Given the description of an element on the screen output the (x, y) to click on. 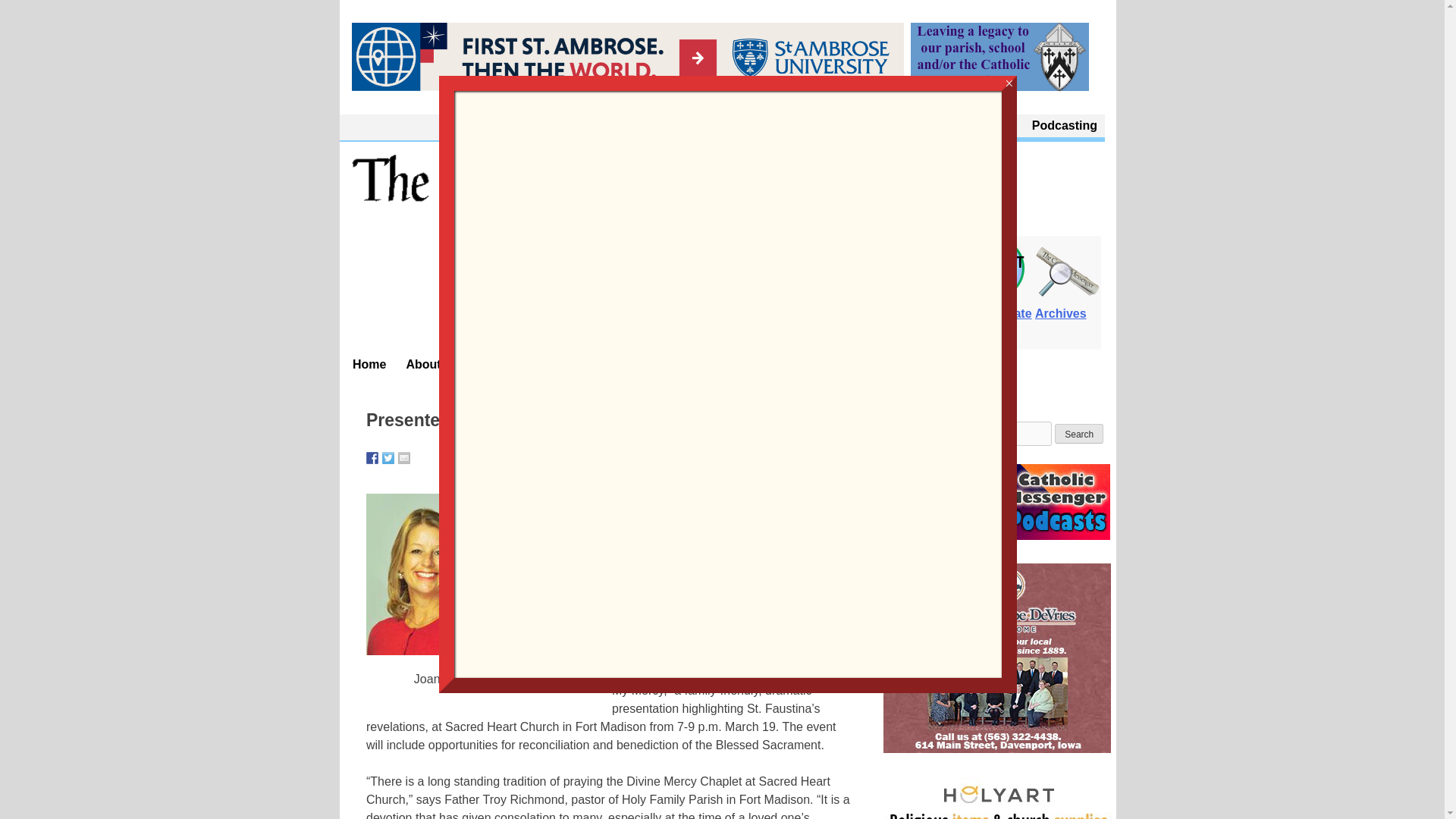
Subscribe (585, 363)
Archives (1067, 304)
TCM Donate (995, 304)
Share on Facebook (372, 458)
Contact Us (983, 125)
Advertise (668, 363)
About Us (910, 125)
Search (1078, 433)
News (513, 363)
Home (369, 363)
Search (1078, 433)
Podcasting (1065, 125)
E-Edition (927, 304)
Share on Twitter (387, 458)
Share by email (403, 458)
